Given the description of an element on the screen output the (x, y) to click on. 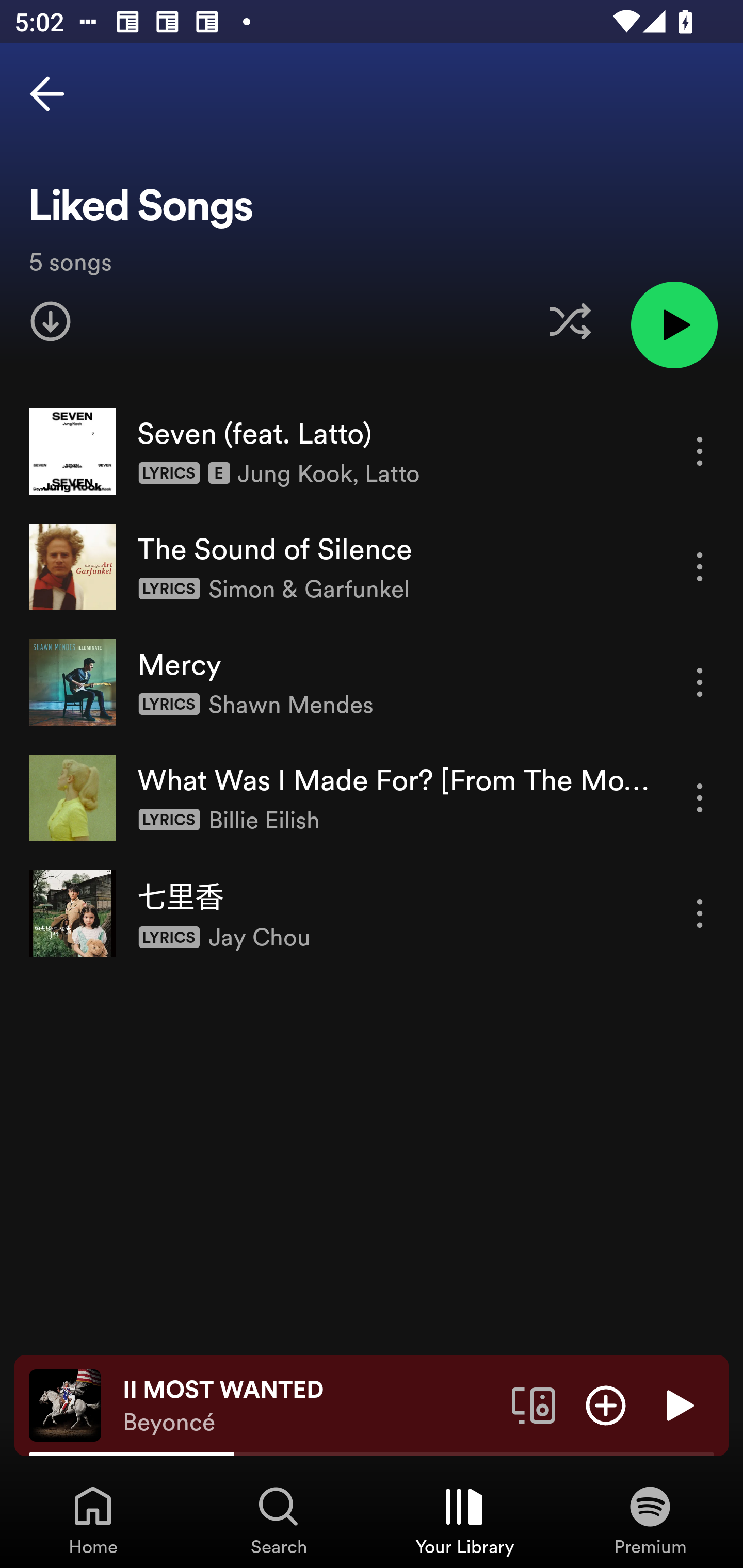
Back (46, 93)
Download (50, 321)
Enable shuffle for this liked songs (569, 321)
Play liked songs (674, 324)
More options for song Seven (feat. Latto) (699, 450)
More options for song The Sound of Silence (699, 566)
More options for song Mercy (699, 682)
七里香 More options for song 七里香 Lyrics Jay Chou (371, 913)
More options for song 七里香 (699, 913)
II MOST WANTED Beyoncé (309, 1405)
The cover art of the currently playing track (64, 1404)
Connect to a device. Opens the devices menu (533, 1404)
Add item (605, 1404)
Play (677, 1404)
Home, Tab 1 of 4 Home Home (92, 1519)
Search, Tab 2 of 4 Search Search (278, 1519)
Your Library, Tab 3 of 4 Your Library Your Library (464, 1519)
Premium, Tab 4 of 4 Premium Premium (650, 1519)
